Given the description of an element on the screen output the (x, y) to click on. 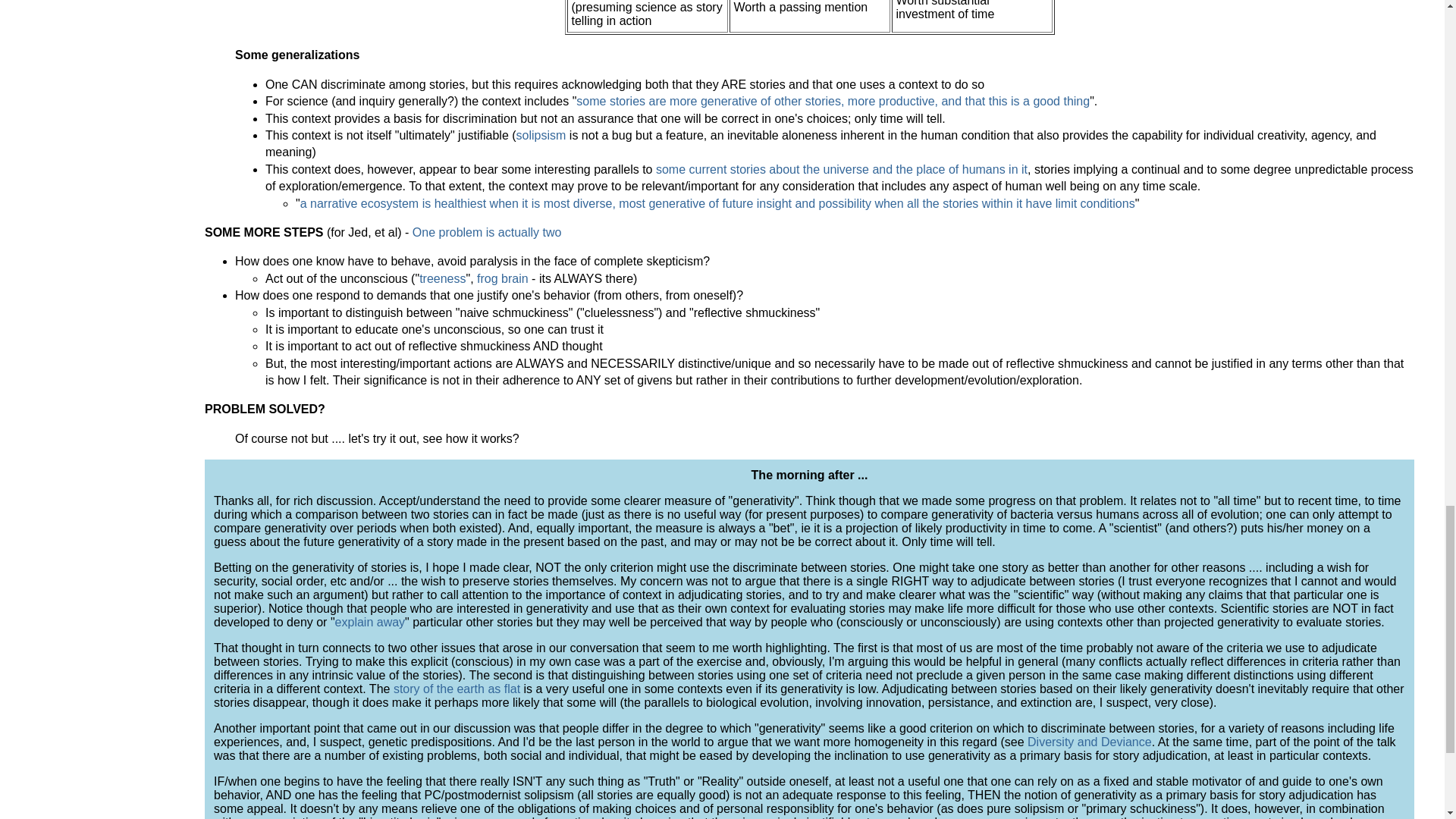
explain away (370, 621)
solipsism (541, 134)
Diversity and Deviance (1089, 741)
story of the earth as flat (456, 688)
frog brain (502, 278)
One problem is actually two (487, 232)
treeness (442, 278)
